Given the description of an element on the screen output the (x, y) to click on. 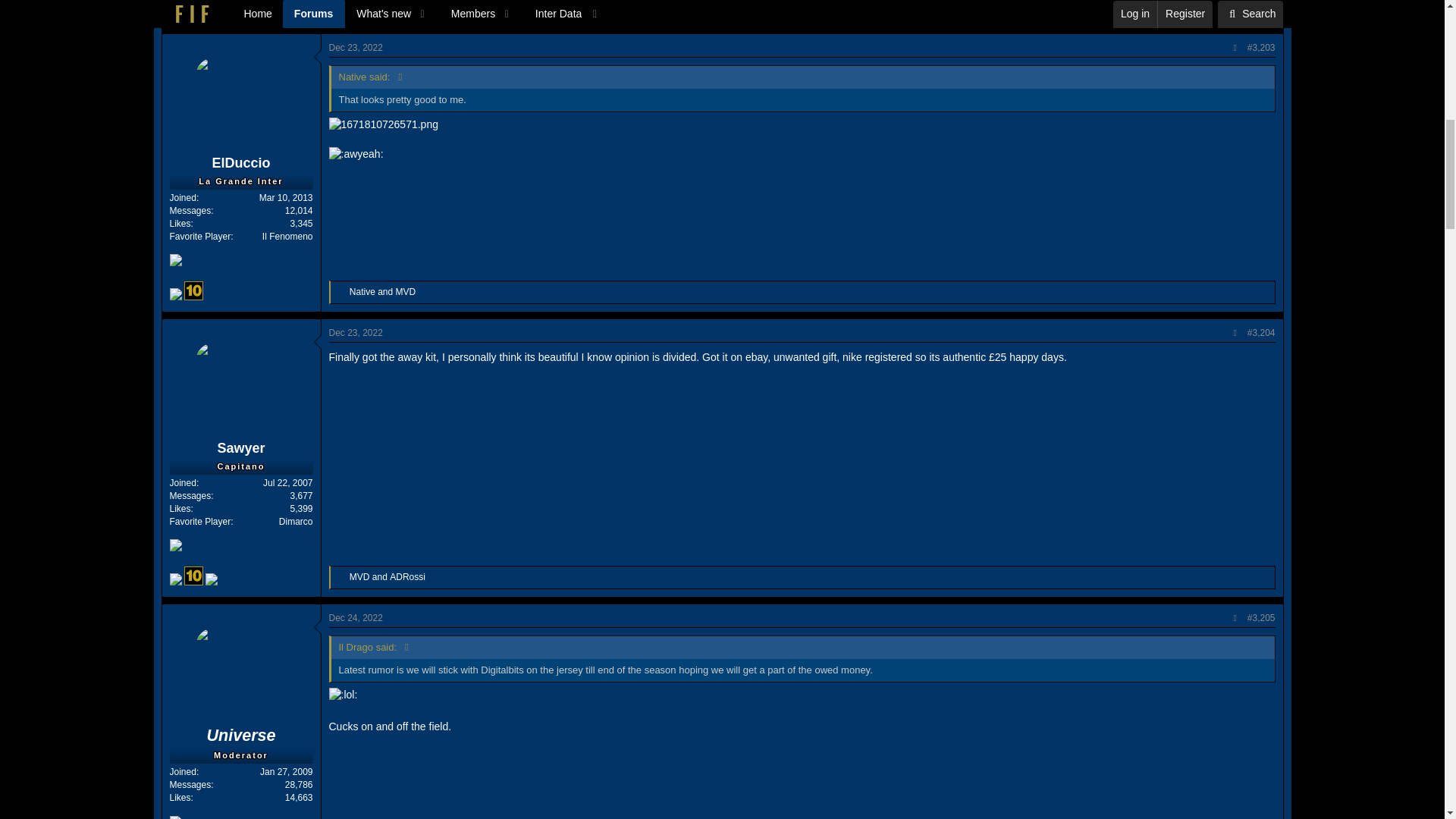
Like (340, 292)
Dec 23, 2022 at 10:57 PM (355, 332)
Aww Yeah    :awyeah: (356, 154)
1671810726571.png (383, 124)
Dec 23, 2022 at 4:52 PM (355, 47)
Like (340, 7)
